Given the description of an element on the screen output the (x, y) to click on. 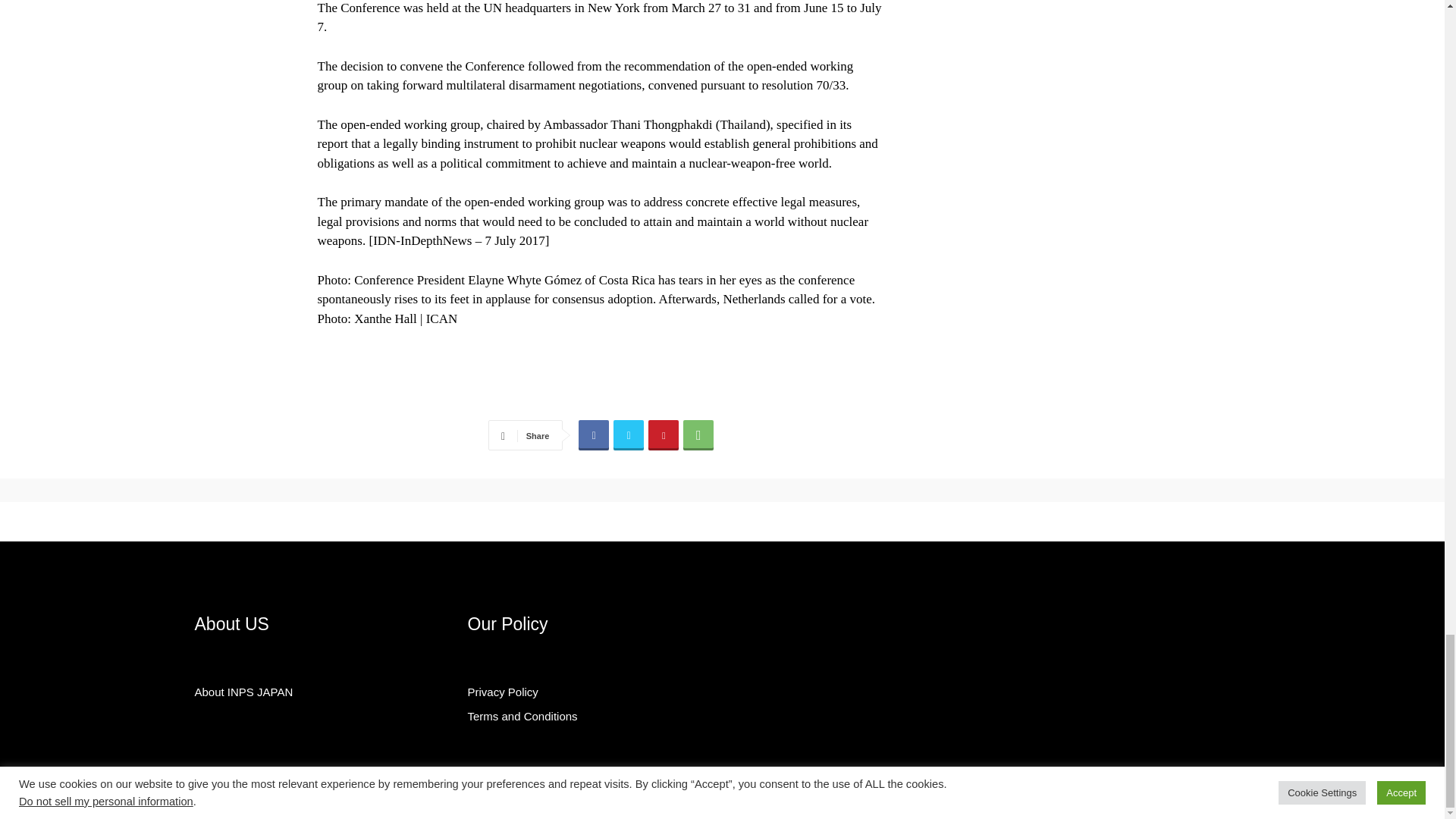
Facebook (593, 435)
Twitter (627, 435)
